Given the description of an element on the screen output the (x, y) to click on. 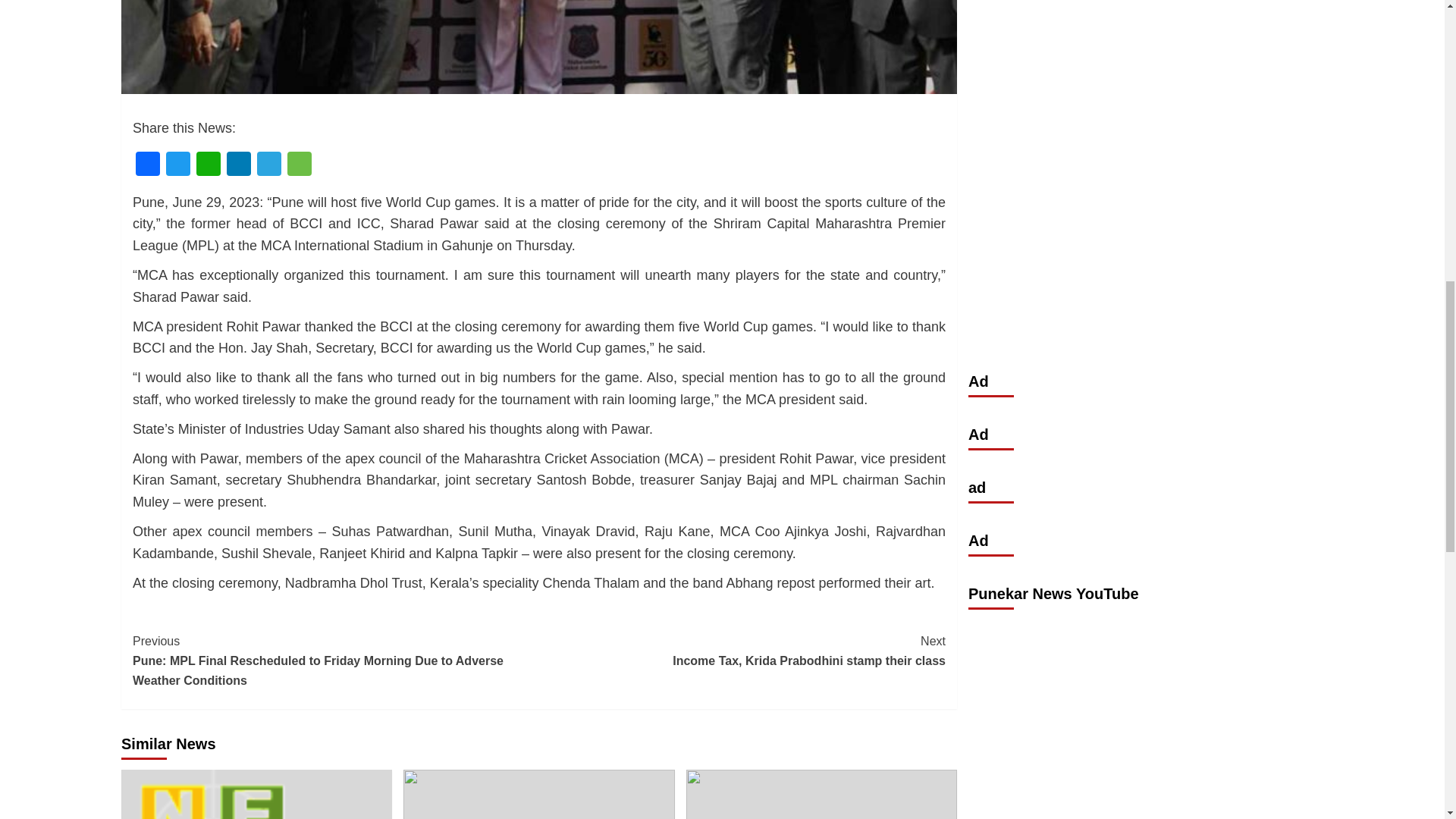
WhatsApp (208, 165)
LinkedIn (238, 165)
WhatsApp (208, 165)
Twitter (178, 165)
LinkedIn (238, 165)
Message (298, 165)
Facebook (147, 165)
Twitter (178, 165)
Telegram (268, 165)
Telegram (268, 165)
Facebook (147, 165)
